Given the description of an element on the screen output the (x, y) to click on. 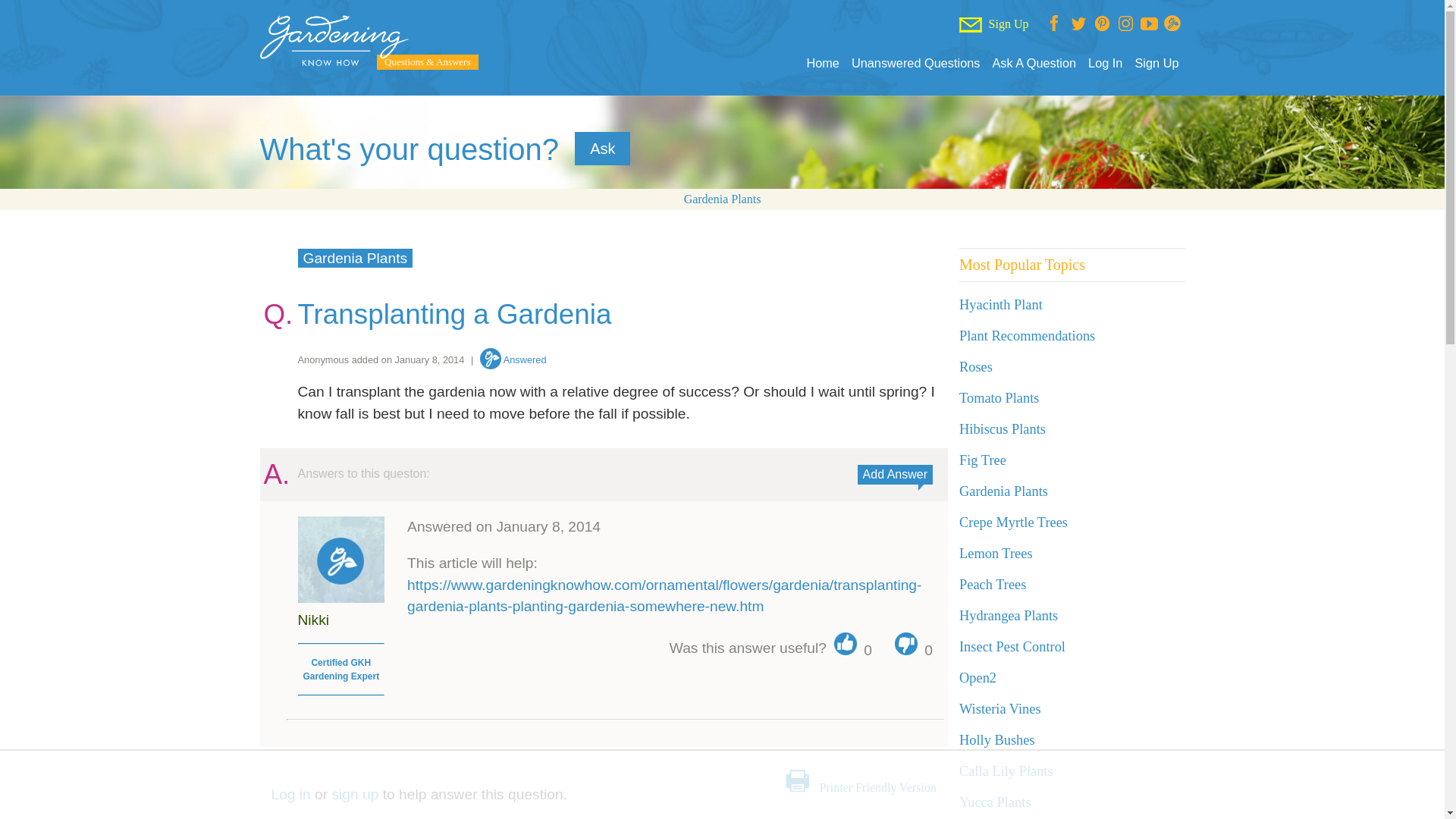
Peach Trees (992, 584)
Gardenia Plants (1003, 491)
Plant Recommendations (1026, 335)
Hydrangea Plants (1008, 615)
Fig Tree (982, 459)
Ask A Question (1033, 62)
Plant Recommendations (1026, 335)
Gardenia Plants (722, 198)
Hyacinth Plant (1000, 304)
Crepe Myrtle Trees (1013, 522)
Hibiscus Plants (1002, 428)
Hyacinth Plant (1000, 304)
Printer Friendly Version (877, 787)
Peach Trees (992, 584)
Sign Up (1156, 62)
